Given the description of an element on the screen output the (x, y) to click on. 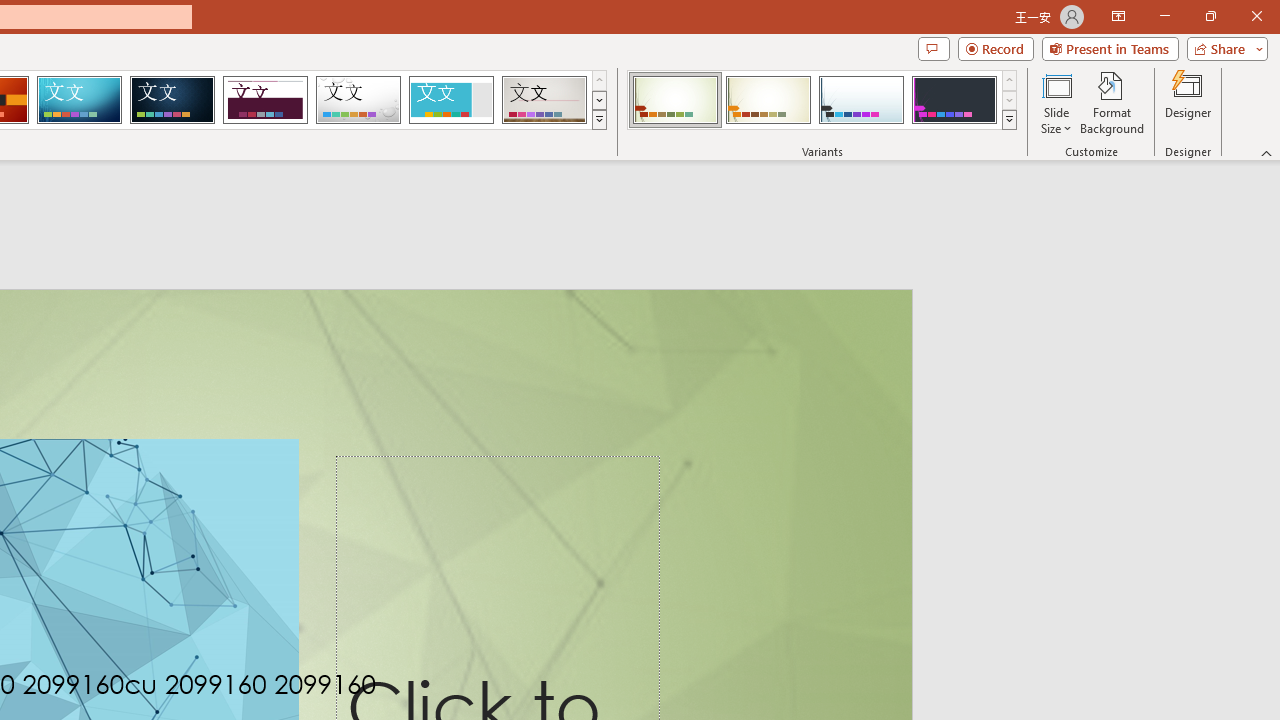
Dividend (265, 100)
Wisp Variant 2 (768, 100)
Wisp Variant 4 (953, 100)
Slide Size (1056, 102)
Droplet (358, 100)
Variants (1009, 120)
Circuit (79, 100)
